Given the description of an element on the screen output the (x, y) to click on. 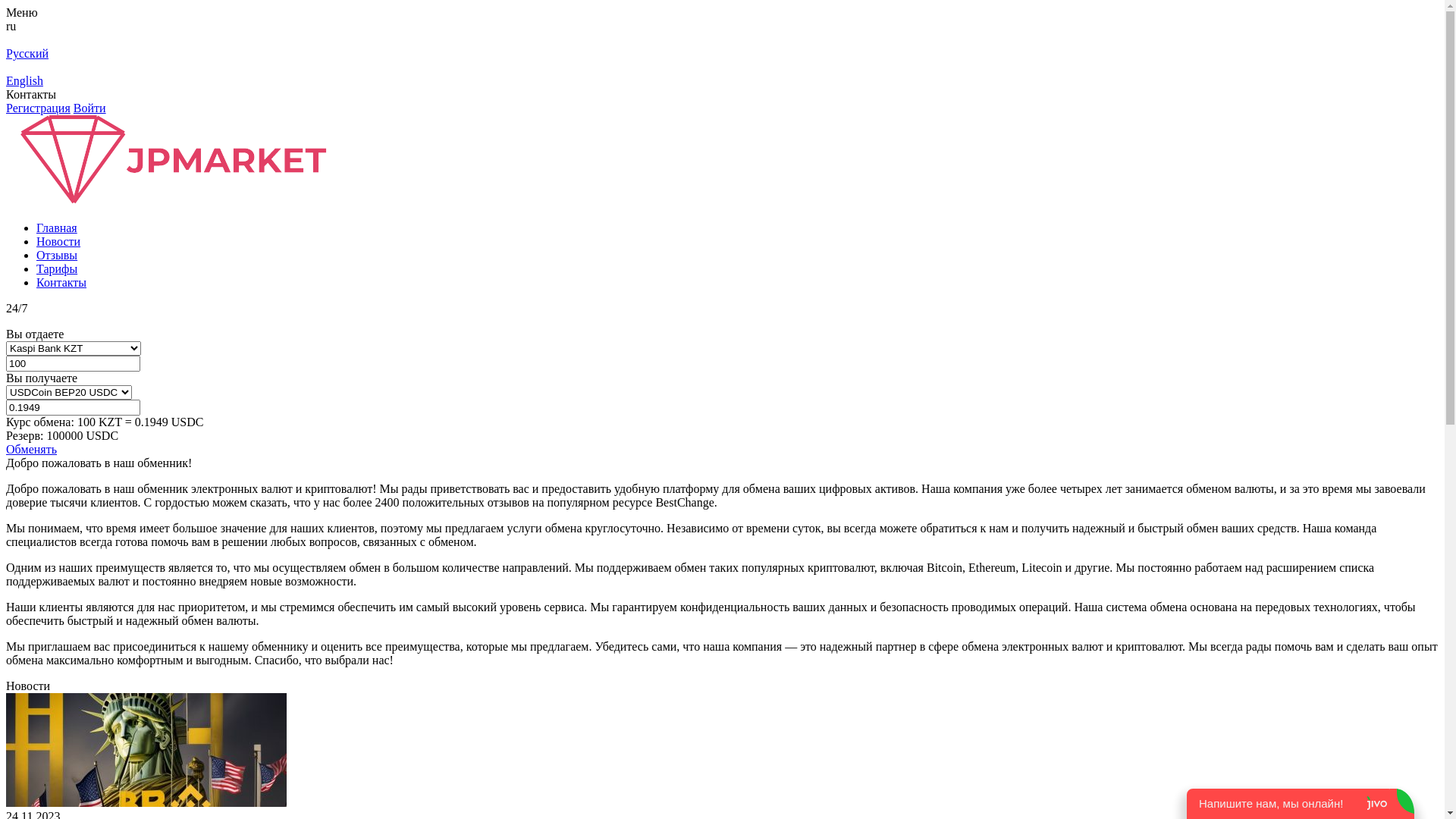
English Element type: text (722, 80)
